Given the description of an element on the screen output the (x, y) to click on. 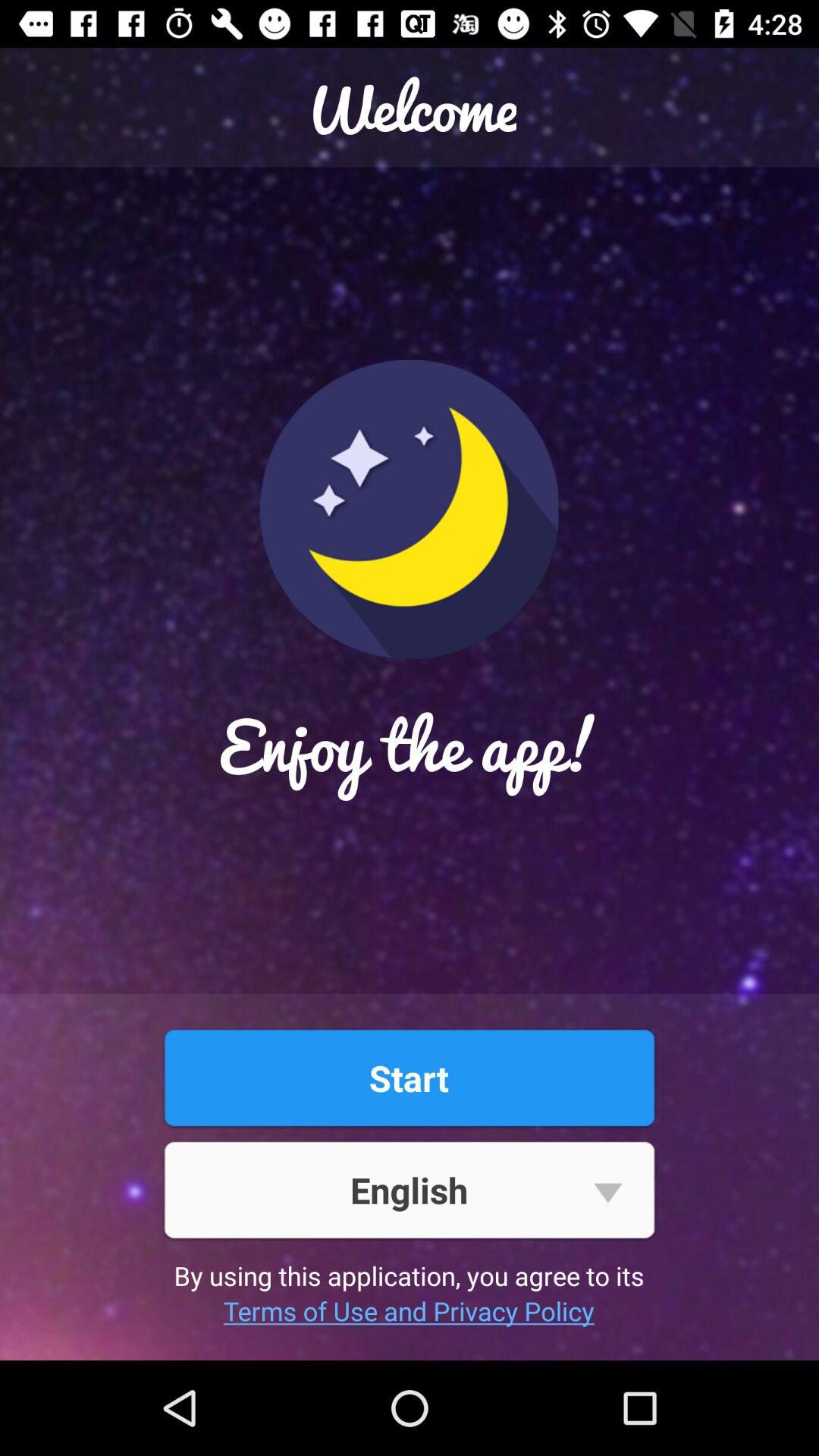
turn on item above by using this item (409, 1190)
